Given the description of an element on the screen output the (x, y) to click on. 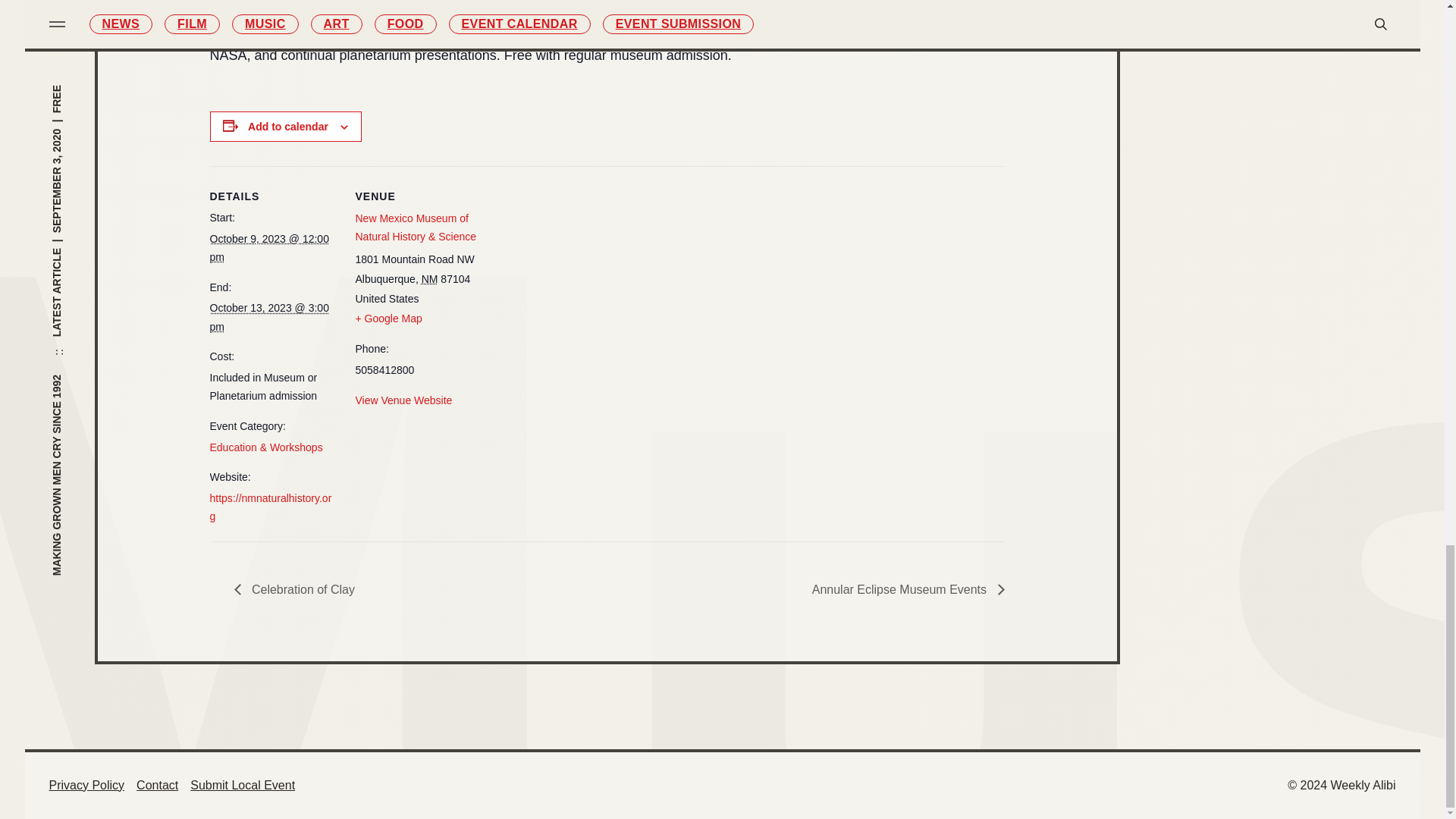
New Mexico (430, 278)
Add to calendar (288, 125)
Annular Eclipse Museum Events (903, 589)
Click to view a Google Map (388, 318)
View Venue Website (403, 400)
2023-10-13 (269, 317)
Celebration of Clay (297, 589)
2023-10-09 (269, 247)
